Given the description of an element on the screen output the (x, y) to click on. 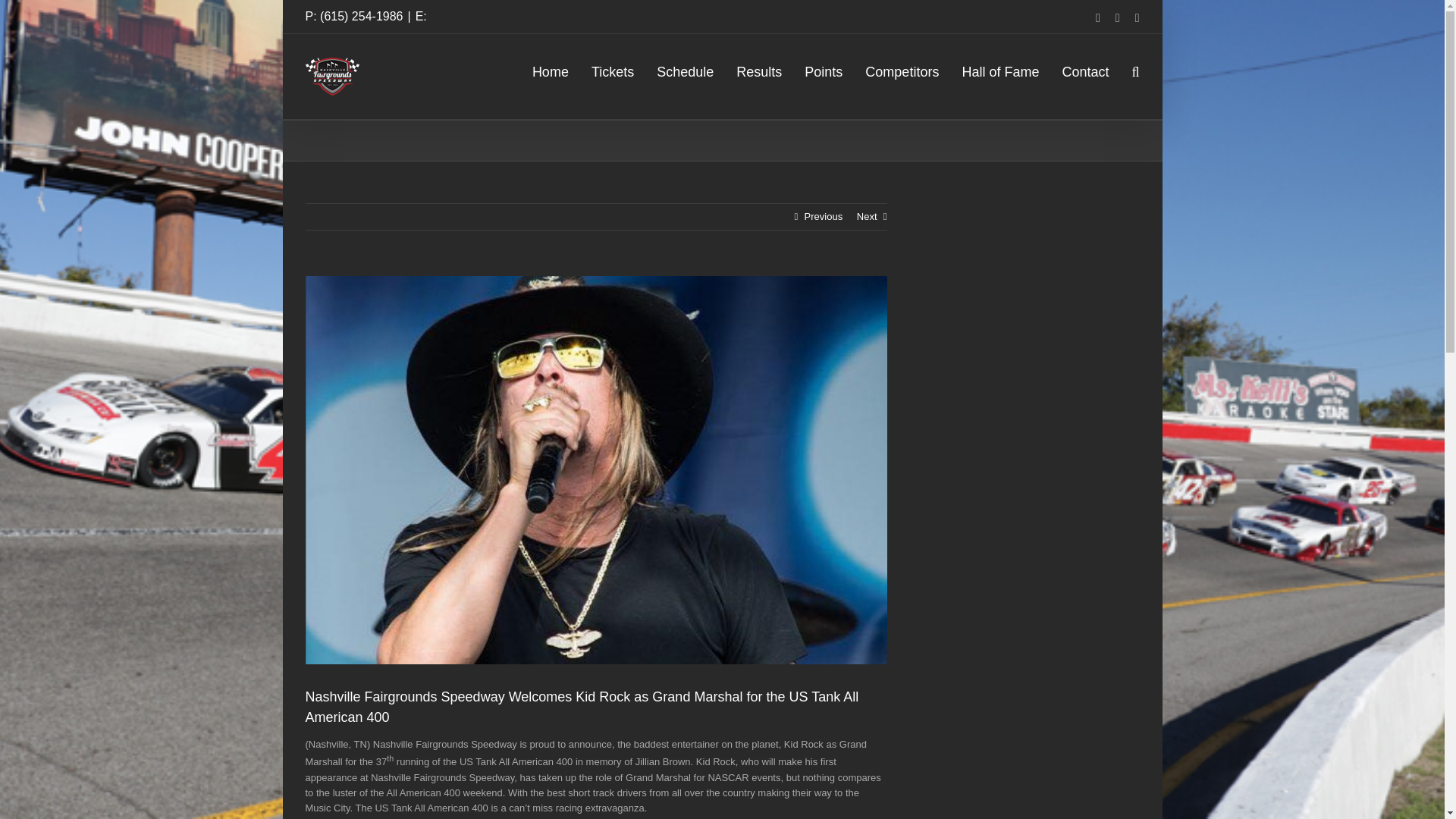
Hall of Fame (999, 68)
Previous (824, 216)
Competitors (901, 68)
